Given the description of an element on the screen output the (x, y) to click on. 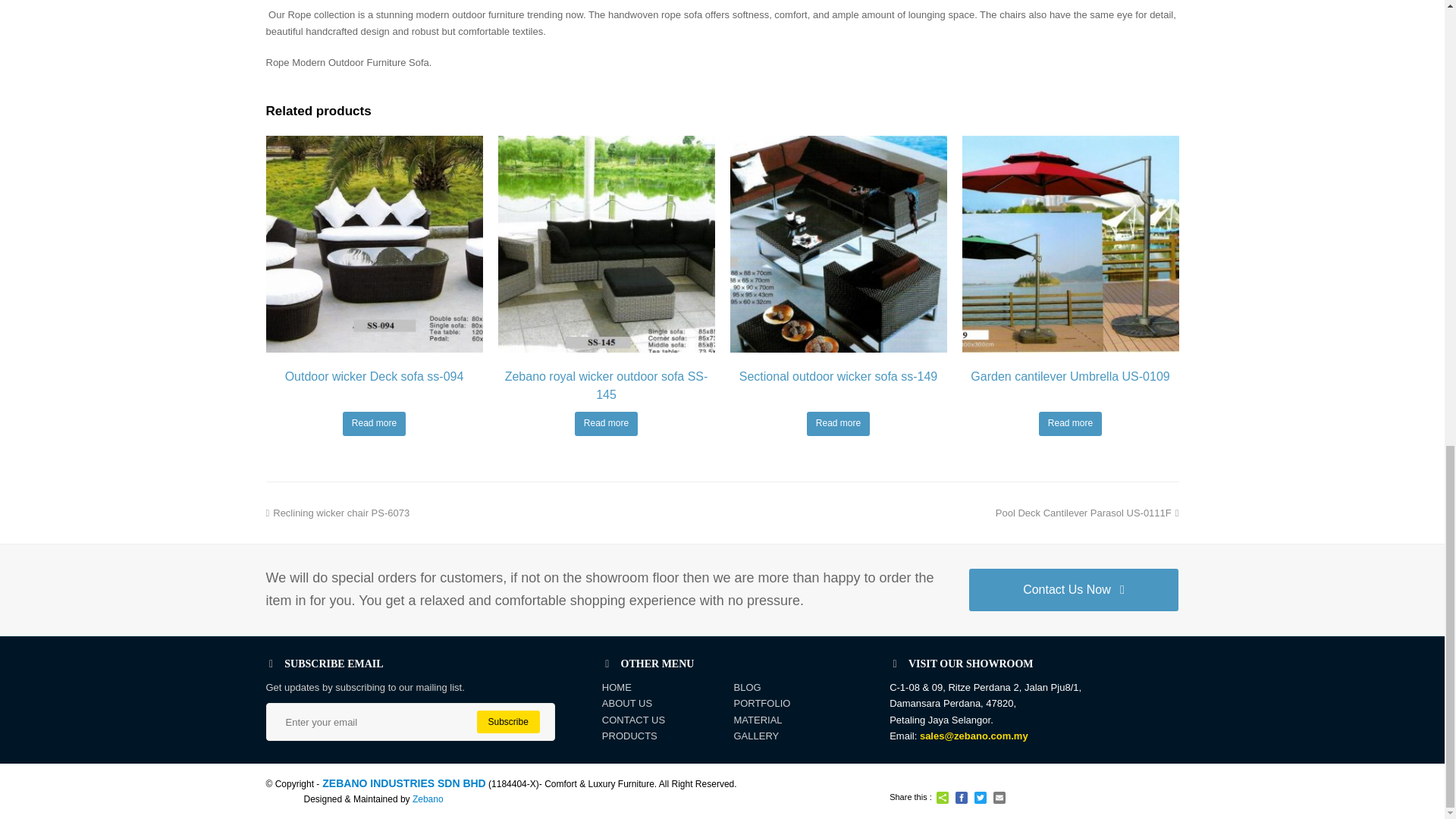
Enter your email (409, 721)
Contact Us Now (1074, 589)
